Given the description of an element on the screen output the (x, y) to click on. 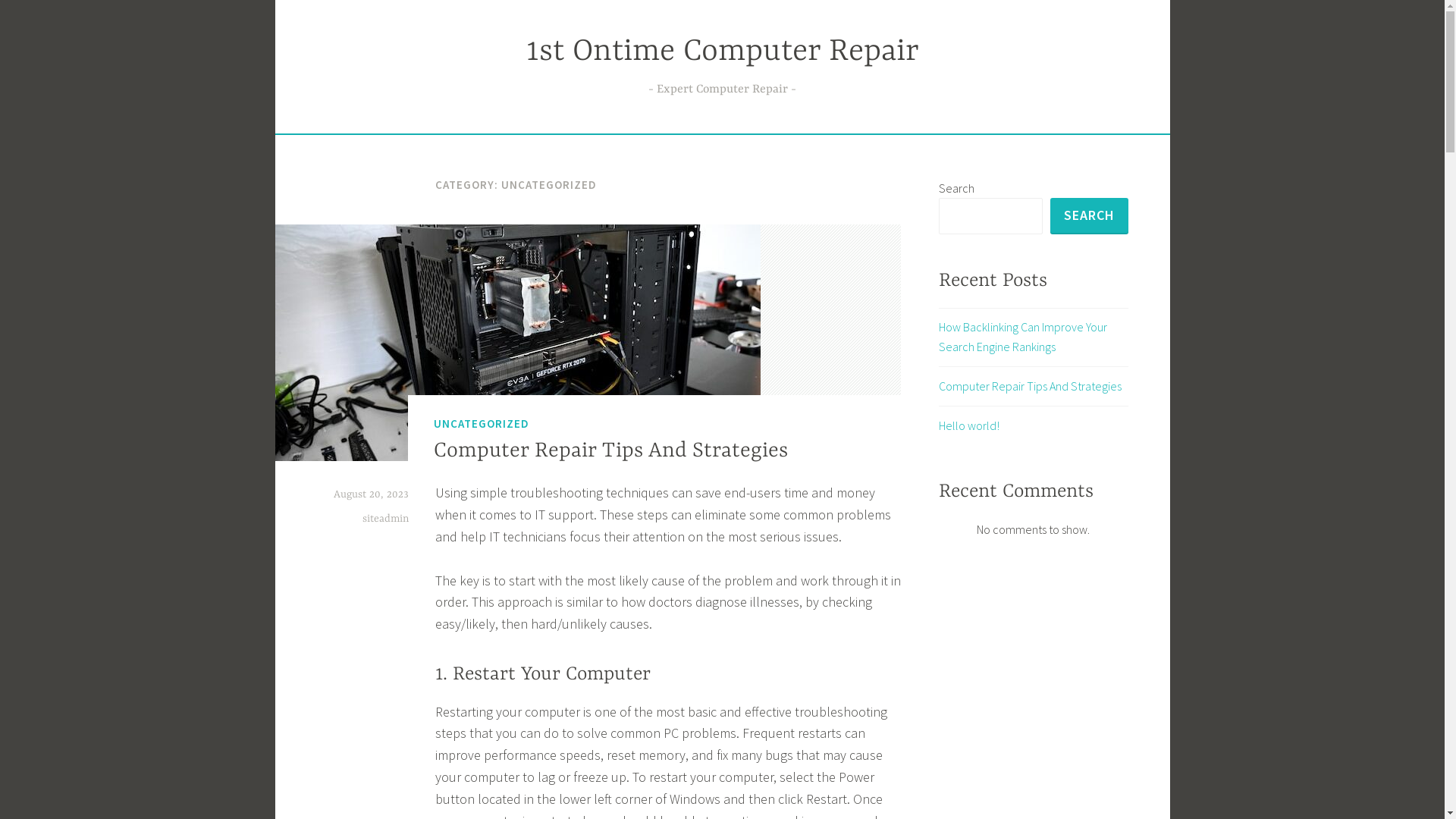
How Backlinking Can Improve Your Search Engine Rankings Element type: text (1022, 336)
Computer Repair Tips And Strategies Element type: text (1029, 385)
UNCATEGORIZED Element type: text (481, 423)
1st Ontime Computer Repair Element type: text (722, 51)
SEARCH Element type: text (1088, 215)
siteadmin Element type: text (385, 518)
Hello world! Element type: text (968, 425)
Computer Repair Tips And Strategies Element type: text (610, 451)
August 20, 2023 Element type: text (370, 494)
